Given the description of an element on the screen output the (x, y) to click on. 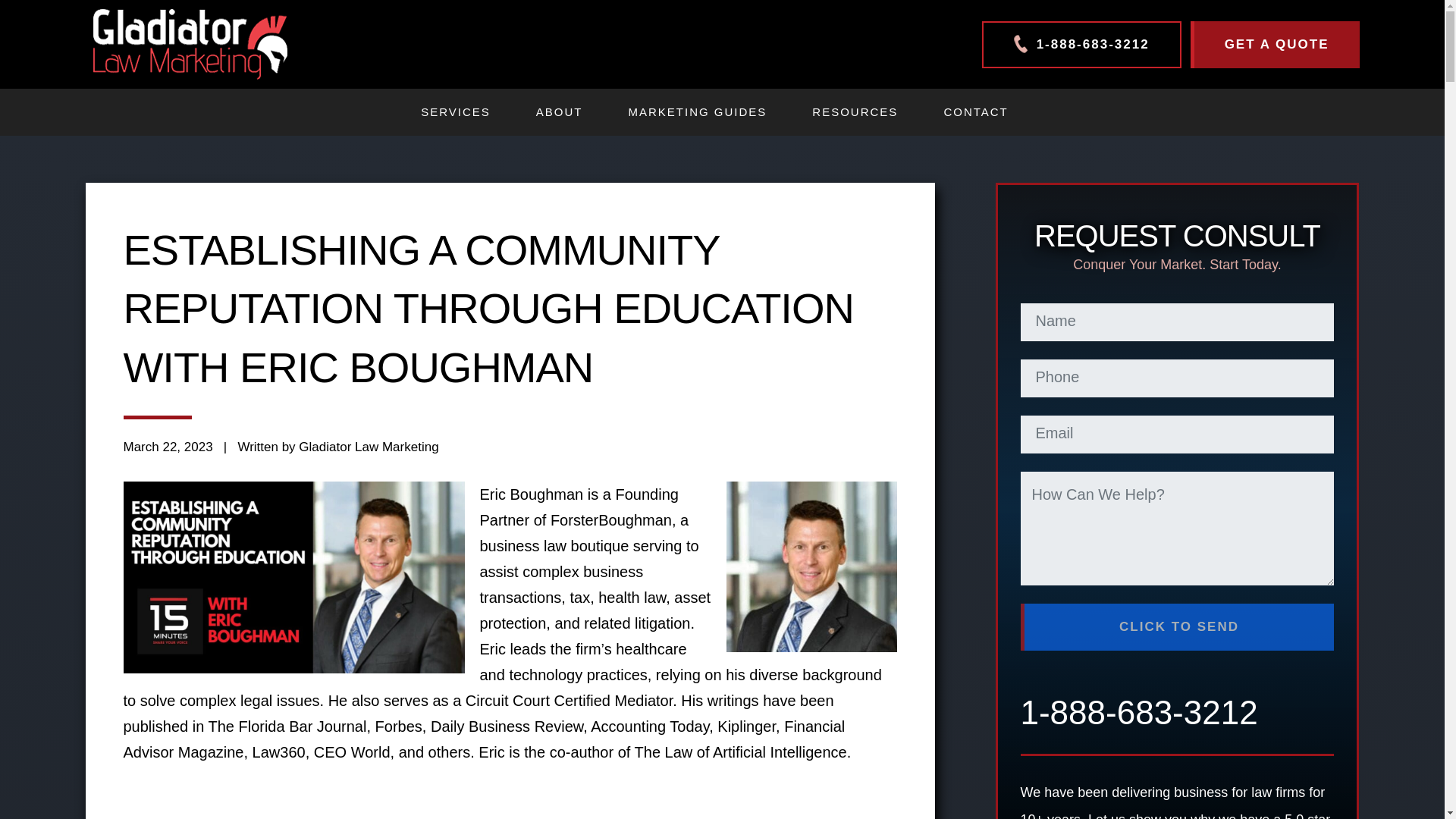
ABOUT (559, 111)
SERVICES (455, 111)
MARKETING GUIDES (697, 111)
GET A QUOTE (1275, 44)
YouTube video player (334, 791)
1-888-683-3212 (1080, 44)
CLICK TO SEND (1177, 626)
